Given the description of an element on the screen output the (x, y) to click on. 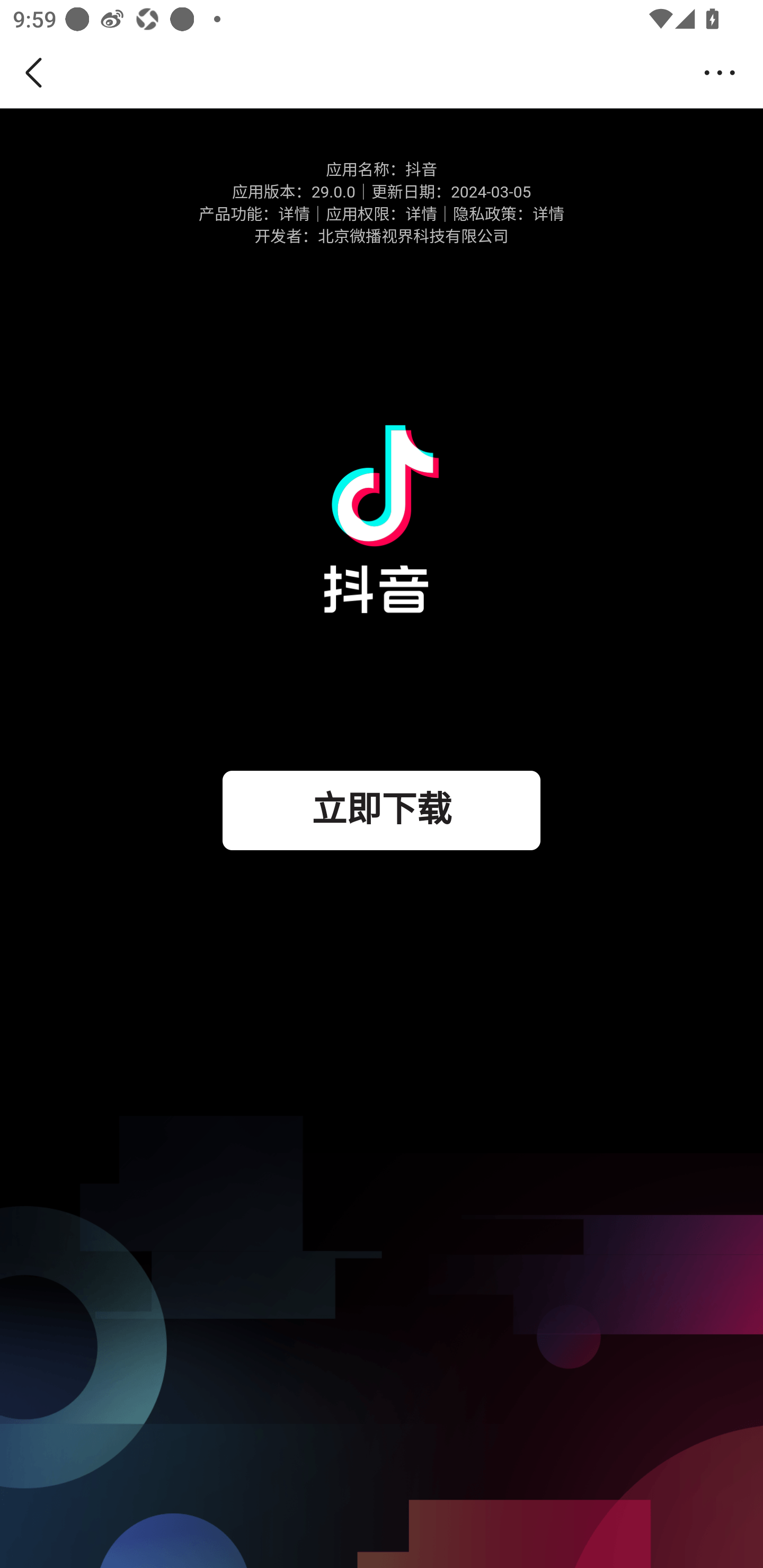
返回，按钮 (37, 72)
更多 (725, 72)
立即下载 (381, 810)
